Given the description of an element on the screen output the (x, y) to click on. 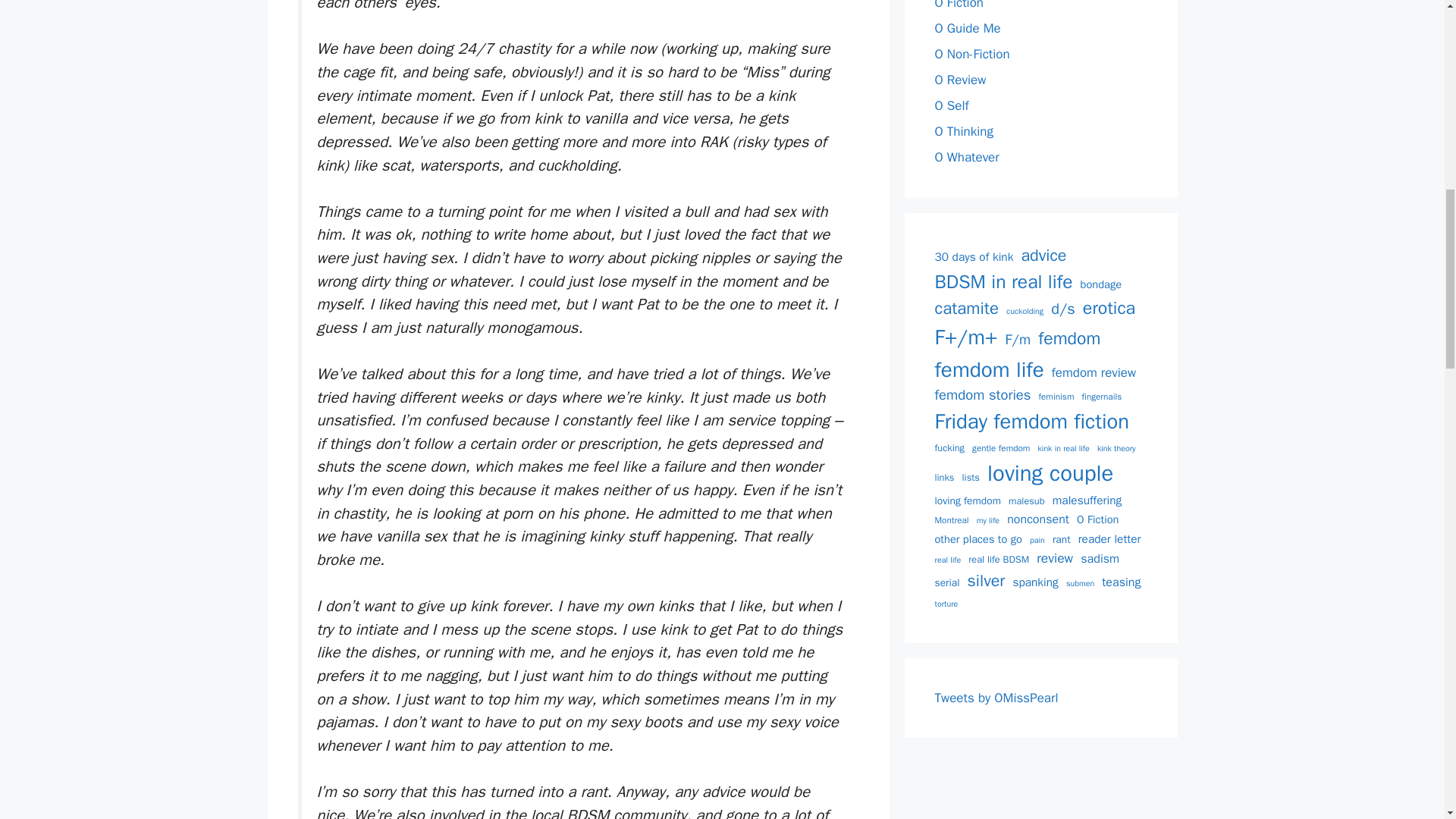
30 days of kink (973, 257)
bondage (1101, 284)
O Thinking (963, 131)
O Non-Fiction (971, 53)
Scroll back to top (1406, 720)
O Guide Me (967, 28)
O Review (959, 79)
erotica (1109, 308)
O Whatever (966, 157)
advice (1042, 255)
catamite (965, 308)
O Self (951, 105)
O Fiction (959, 5)
BDSM in real life (1002, 281)
cuckolding (1024, 311)
